Given the description of an element on the screen output the (x, y) to click on. 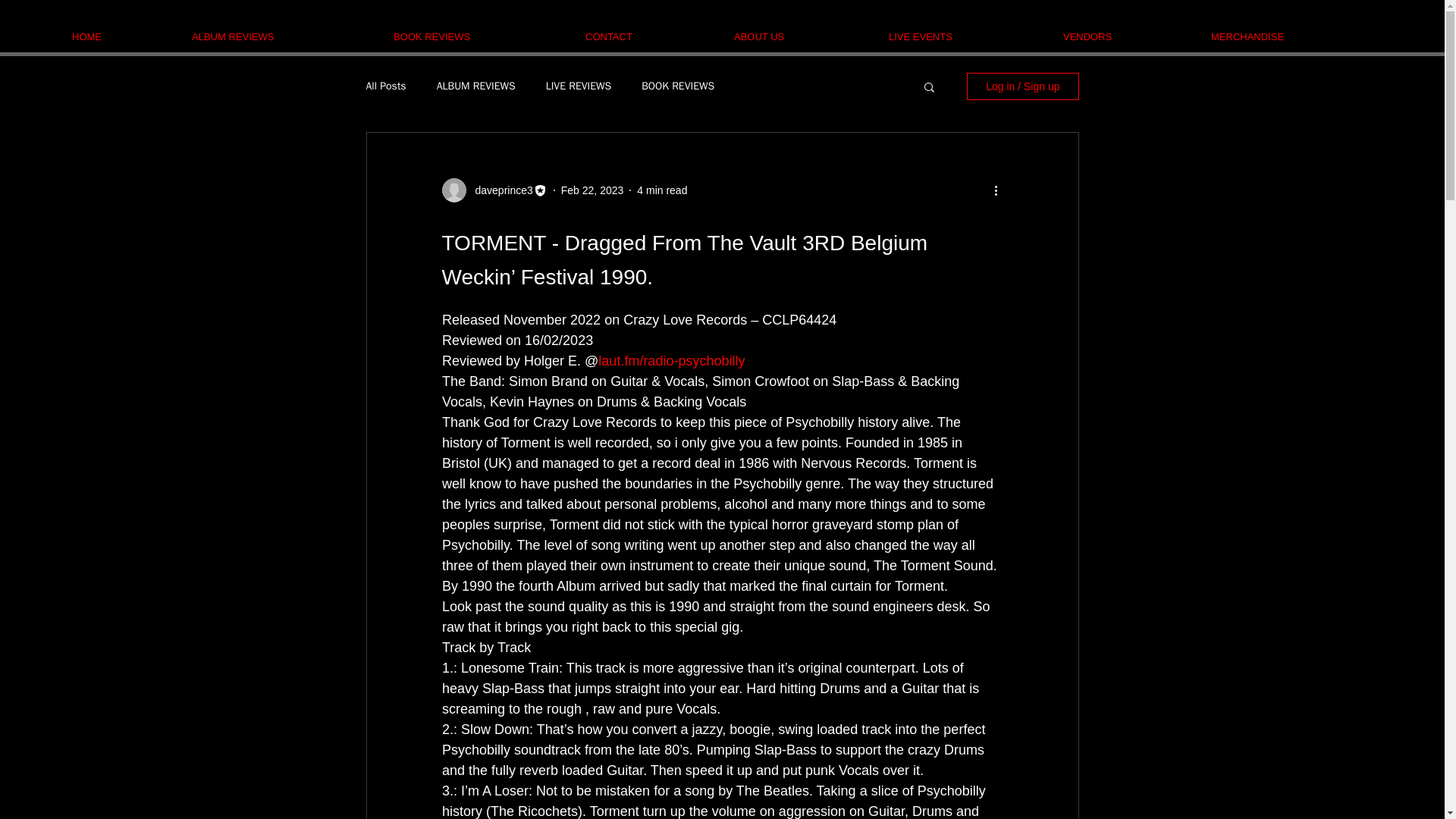
LIVE EVENTS (964, 37)
MERCHANDISE (1291, 37)
BOOK REVIEWS (678, 86)
Feb 22, 2023 (592, 189)
LIVE REVIEWS (578, 86)
All Posts (385, 86)
CONTACT (647, 37)
ALBUM REVIEWS (280, 37)
ALBUM REVIEWS (475, 86)
VENDORS (1125, 37)
